Given the description of an element on the screen output the (x, y) to click on. 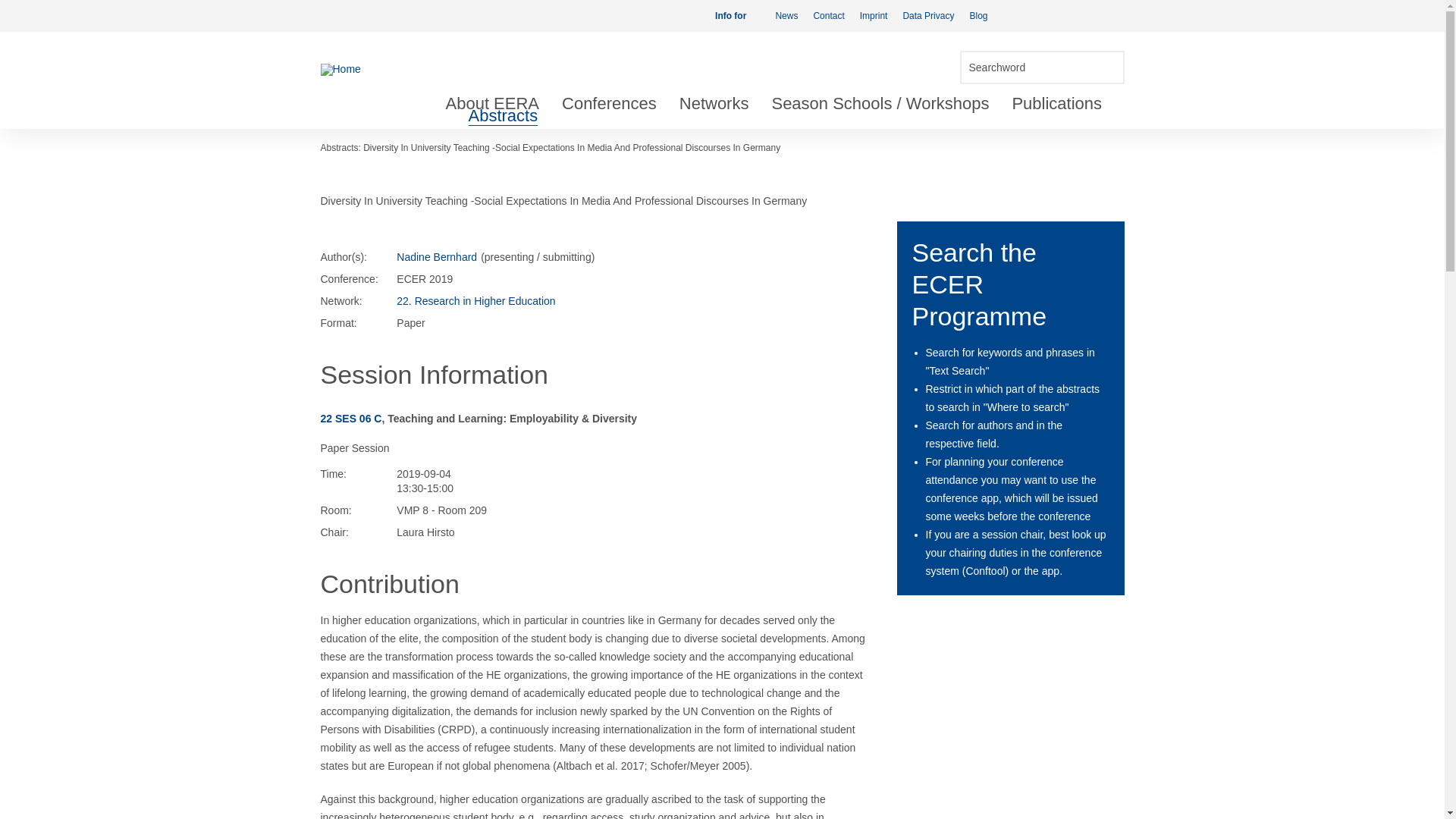
Search (1107, 67)
Blog (977, 15)
Twitter (1042, 15)
Data Privacy (927, 15)
Info for (737, 15)
RSS (1115, 15)
YouTube (1091, 15)
Linkedin (1066, 15)
Facebook (1018, 15)
Search (1107, 67)
